Given the description of an element on the screen output the (x, y) to click on. 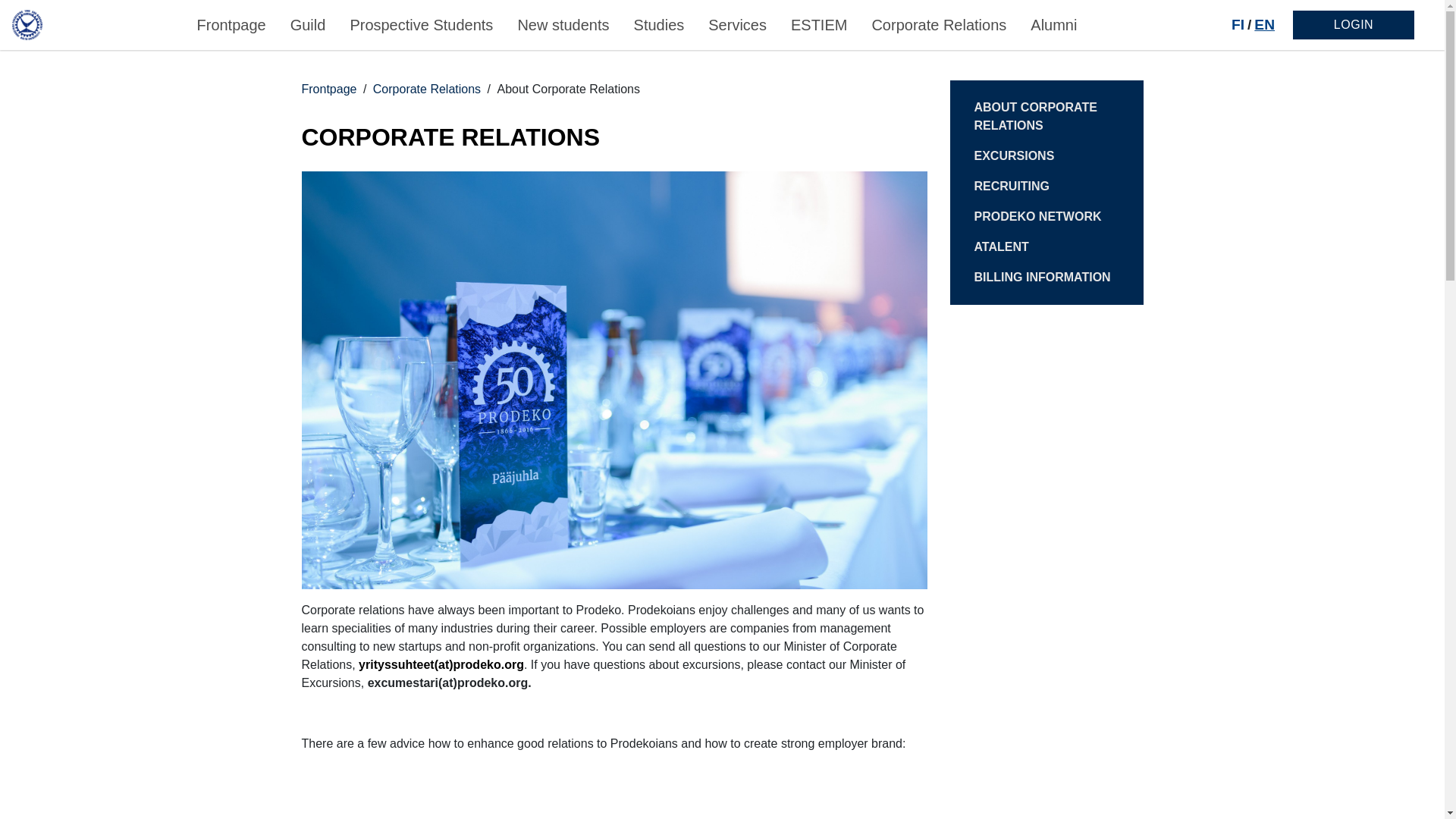
Services (737, 24)
Studies (658, 24)
Prospective Students (421, 24)
Frontpage (231, 24)
Guild (307, 24)
New students (562, 24)
ESTIEM (818, 24)
Corporate Relations (937, 24)
